Given the description of an element on the screen output the (x, y) to click on. 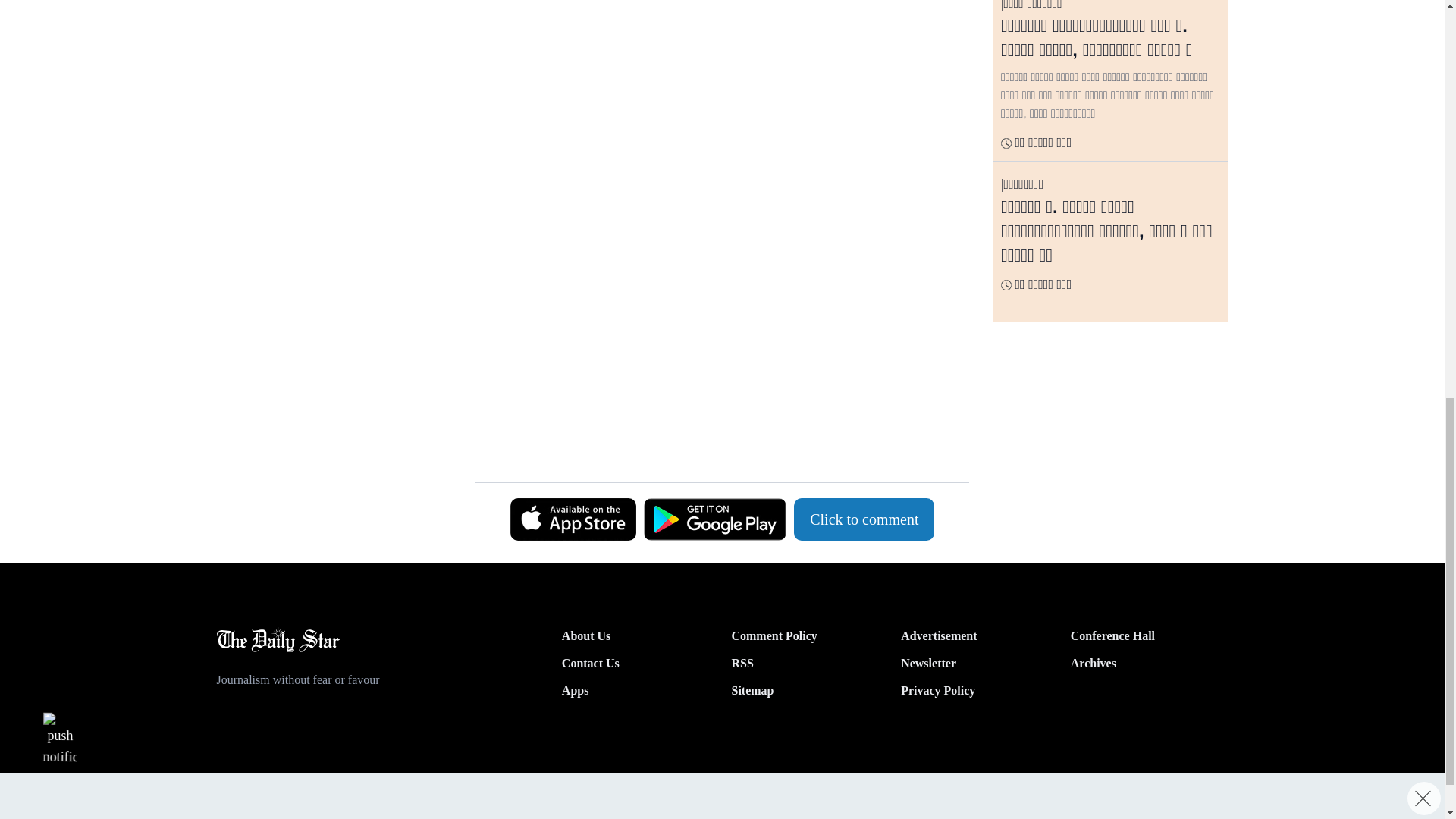
3rd party ad content (713, 95)
3rd party ad content (332, 89)
3rd party ad content (713, 299)
3rd party ad content (714, 440)
